Given the description of an element on the screen output the (x, y) to click on. 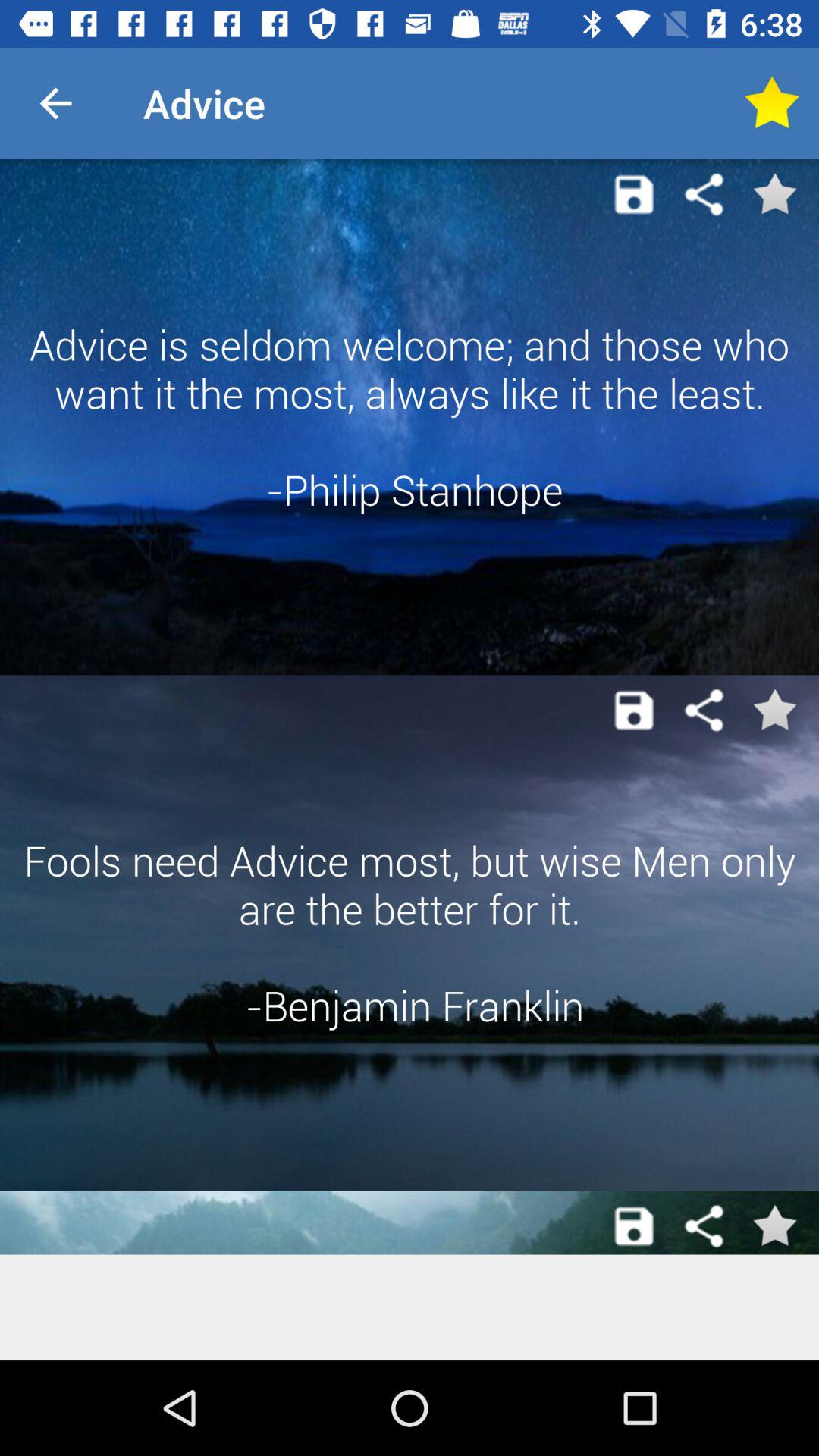
favorites button (774, 1226)
